Given the description of an element on the screen output the (x, y) to click on. 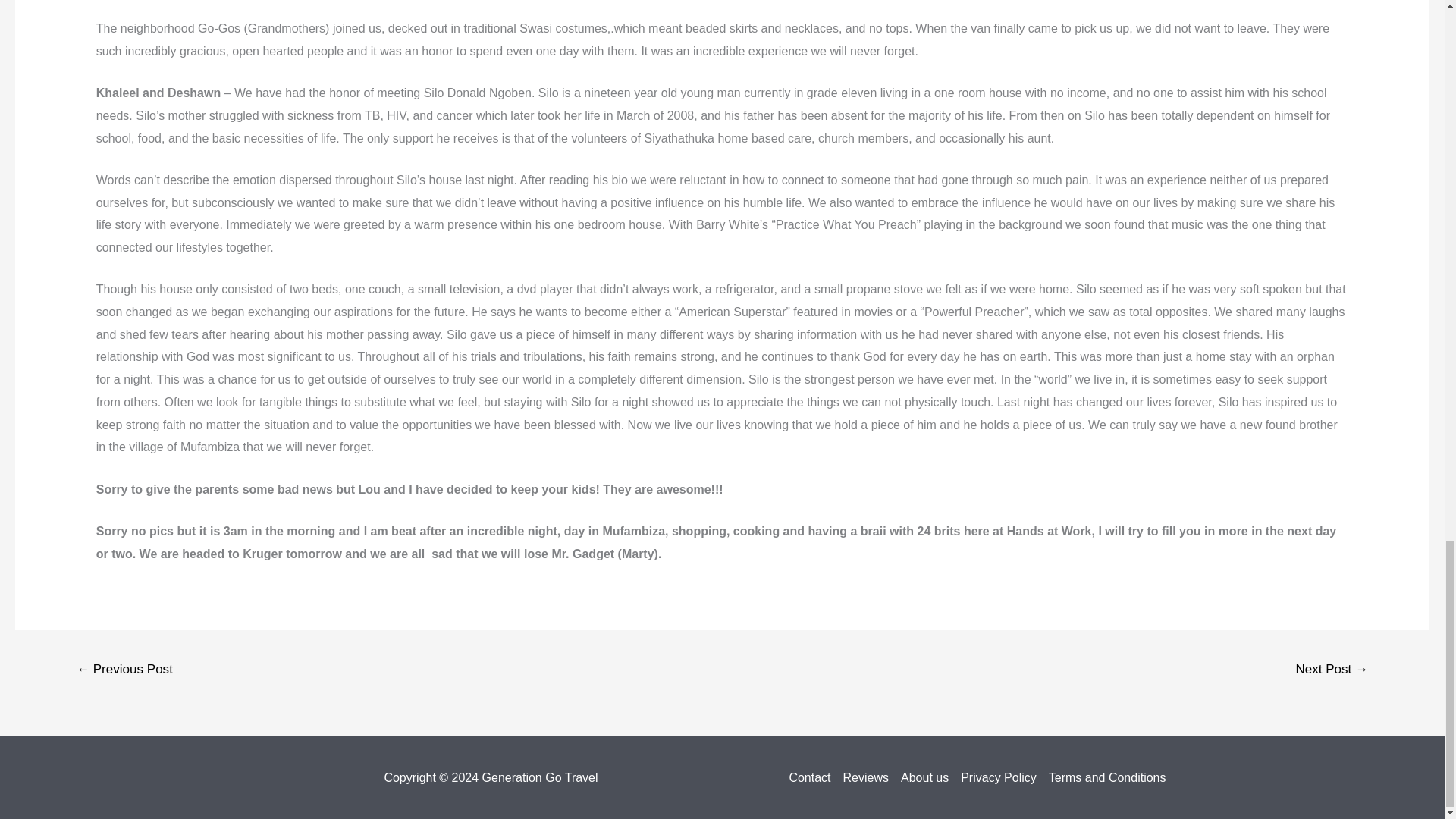
Privacy Policy (998, 777)
Reviews (866, 777)
About us (925, 777)
Terms and Conditions (1104, 777)
Contact (812, 777)
